Given the description of an element on the screen output the (x, y) to click on. 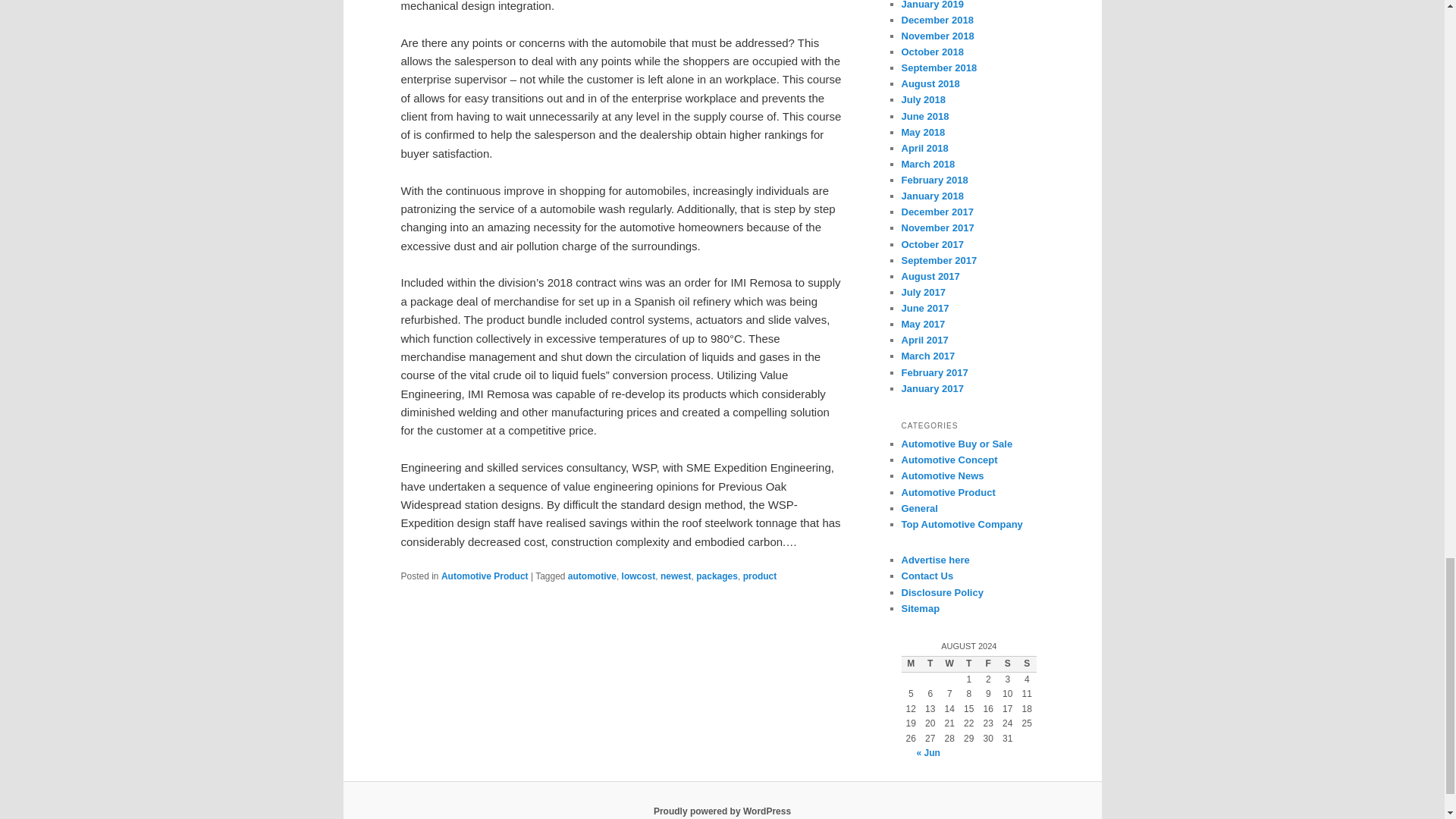
Sunday (1026, 664)
lowcost (638, 575)
product (759, 575)
Tuesday (930, 664)
Saturday (1007, 664)
Monday (910, 664)
packages (716, 575)
automotive (591, 575)
Automotive Product (484, 575)
Friday (987, 664)
newest (676, 575)
Thursday (968, 664)
Semantic Personal Publishing Platform (721, 810)
Wednesday (949, 664)
